Given the description of an element on the screen output the (x, y) to click on. 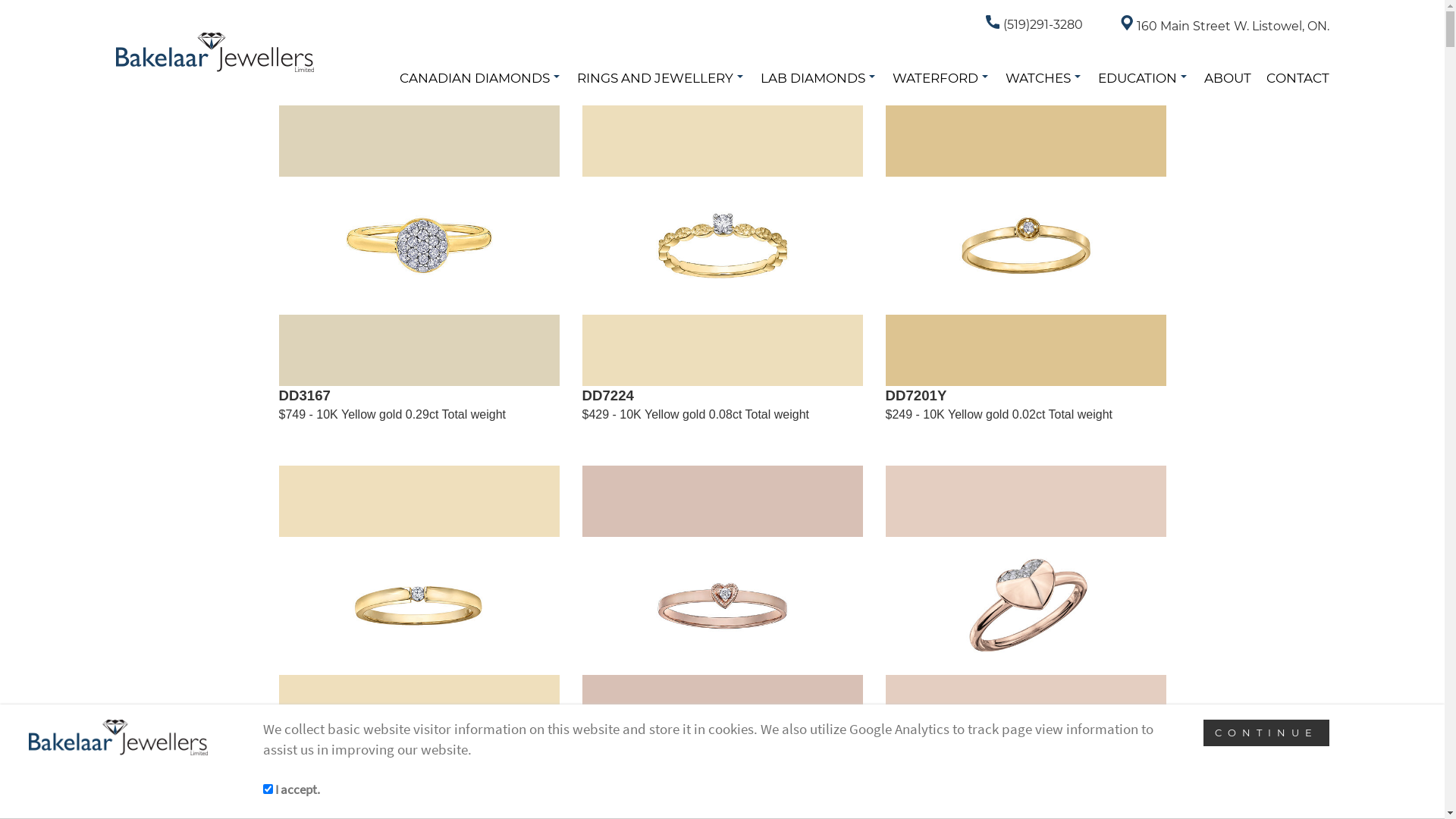
View Full-Size Image Element type: hover (1025, 605)
CONTACT Element type: text (1297, 77)
- Bakelaar Jewellers Element type: hover (214, 52)
Bakelarr Jewellers logo Element type: hover (117, 737)
WATCHES Element type: text (1043, 77)
View Full-Size Image Element type: hover (722, 245)
CONTINUE Element type: text (1266, 732)
160 Main Street W. Listowel, ON. Element type: text (1224, 25)
WATERFORD Element type: text (940, 77)
ABOUT Element type: text (1227, 77)
View Full-Size Image Element type: hover (1025, 245)
View Full-Size Image Element type: hover (419, 245)
RINGS AND JEWELLERY Element type: text (660, 77)
View Full-Size Image Element type: hover (722, 605)
LAB DIAMONDS Element type: text (817, 77)
View Full-Size Image Element type: hover (419, 605)
EDUCATION Element type: text (1143, 77)
(519)291-3280 Element type: text (1033, 24)
CANADIAN DIAMONDS Element type: text (479, 77)
